Given the description of an element on the screen output the (x, y) to click on. 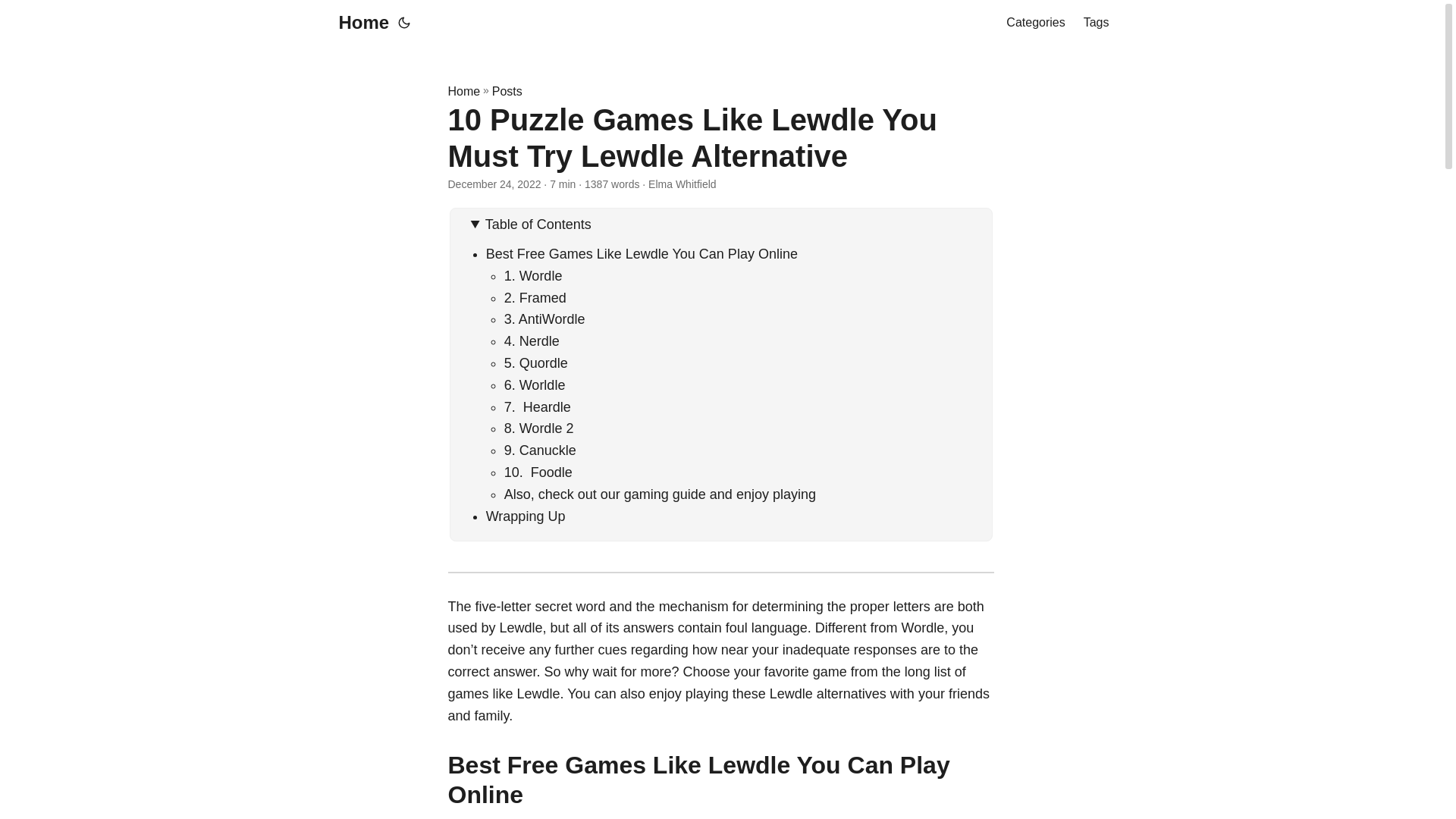
7.  Heardle (536, 406)
Also, check out our gaming guide and enjoy playing (659, 494)
Categories (1035, 22)
3. AntiWordle (544, 319)
5. Quordle (535, 363)
Posts (507, 91)
Home (463, 91)
4. Nerdle (531, 340)
Wrapping Up (526, 516)
10.  Foodle (537, 472)
2. Framed (534, 297)
8. Wordle 2 (538, 427)
Categories (1035, 22)
Home (359, 22)
1. Wordle (532, 275)
